Given the description of an element on the screen output the (x, y) to click on. 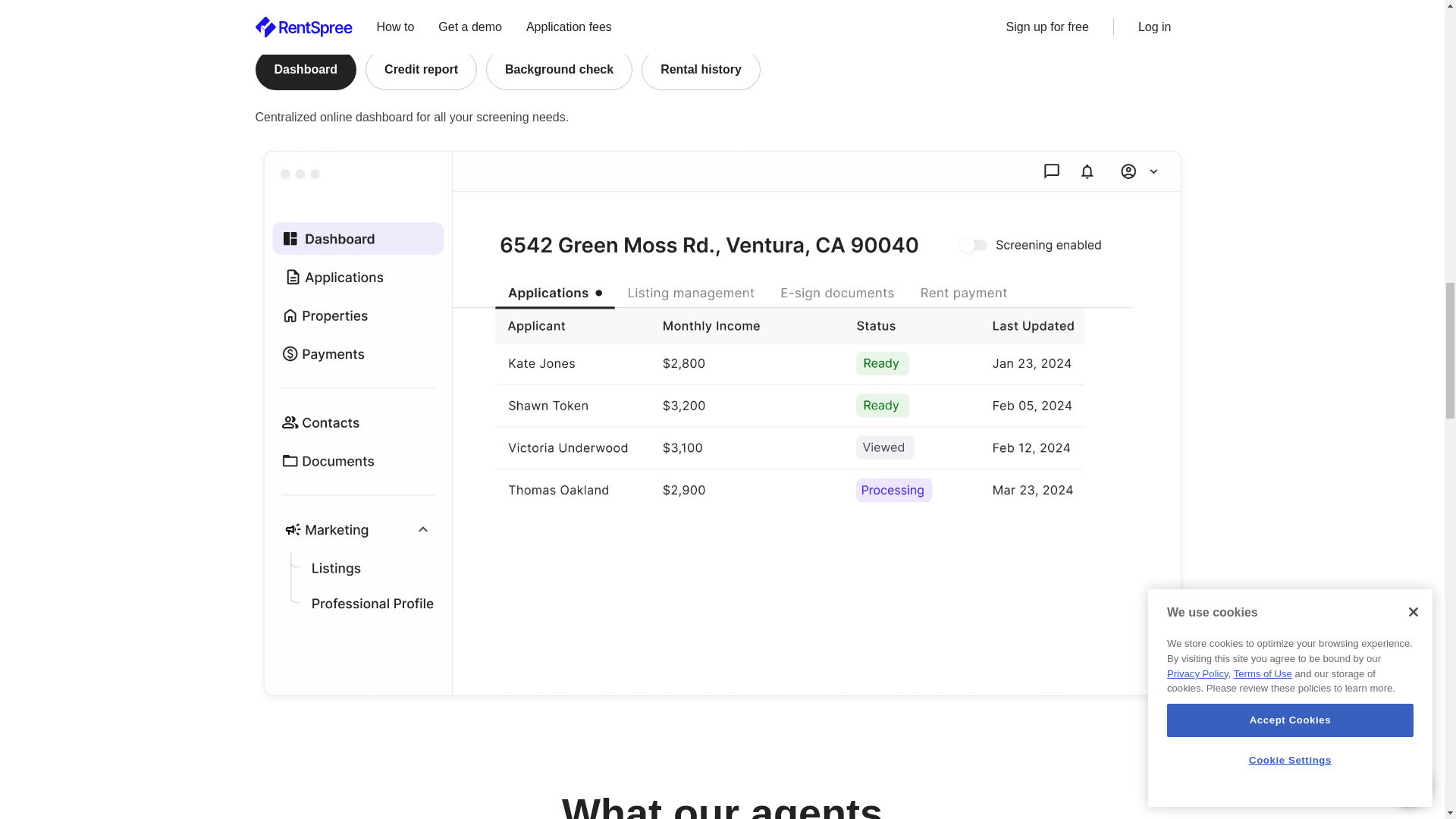
Rental history (701, 69)
Credit report (421, 69)
Background check (558, 69)
Dashboard (305, 69)
